Given the description of an element on the screen output the (x, y) to click on. 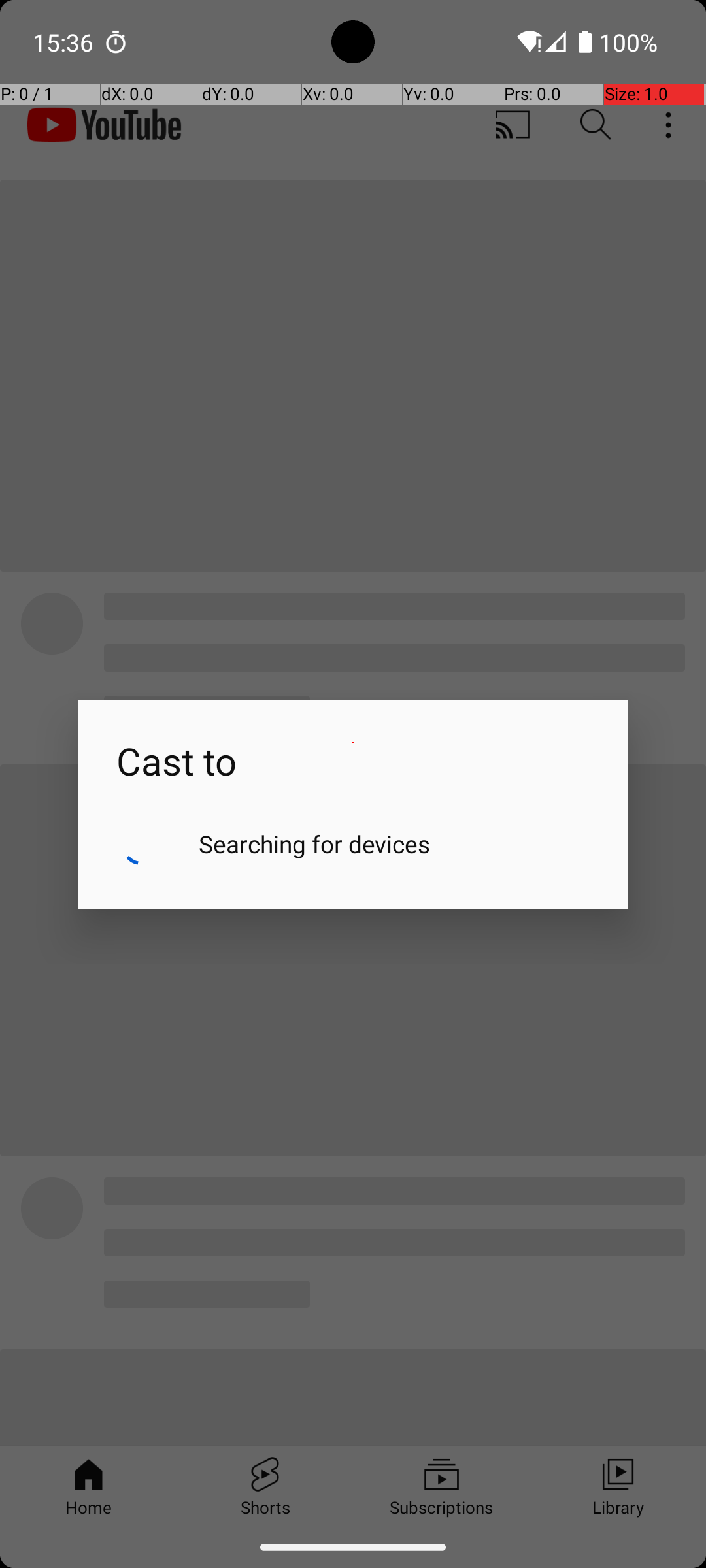
Cast to Element type: android.widget.TextView (352, 742)
Searching for devices Element type: android.widget.TextView (314, 843)
